Given the description of an element on the screen output the (x, y) to click on. 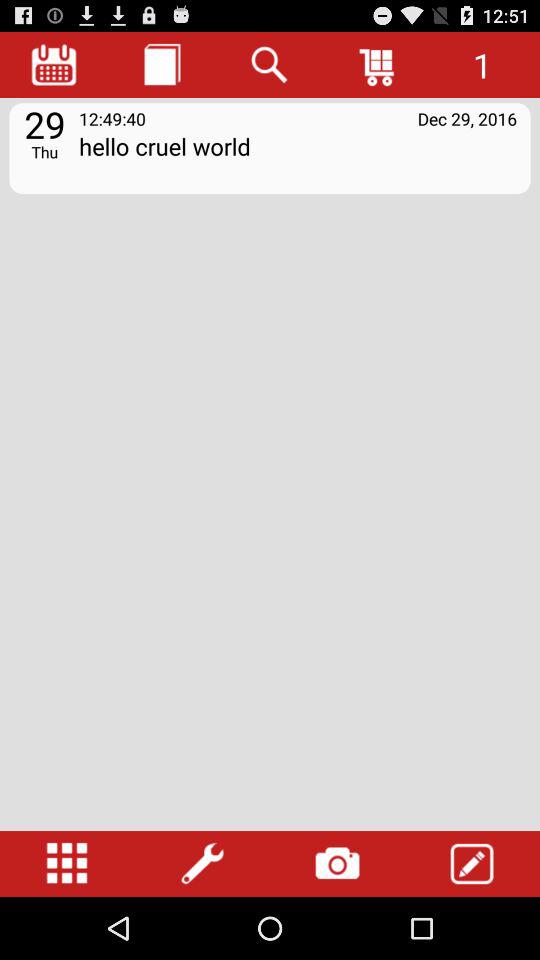
new note (161, 64)
